Given the description of an element on the screen output the (x, y) to click on. 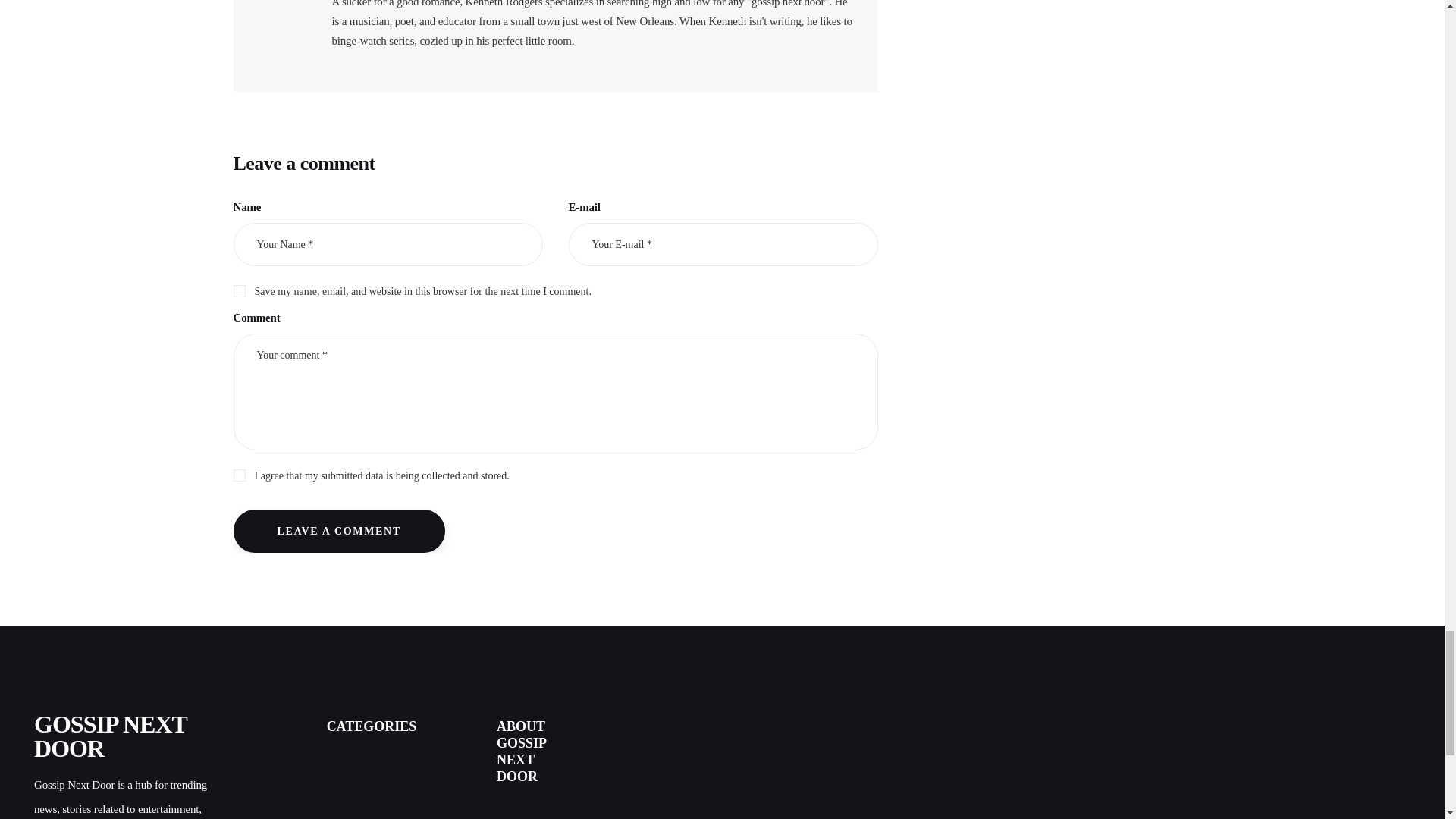
1 (554, 473)
yes (237, 289)
